Given the description of an element on the screen output the (x, y) to click on. 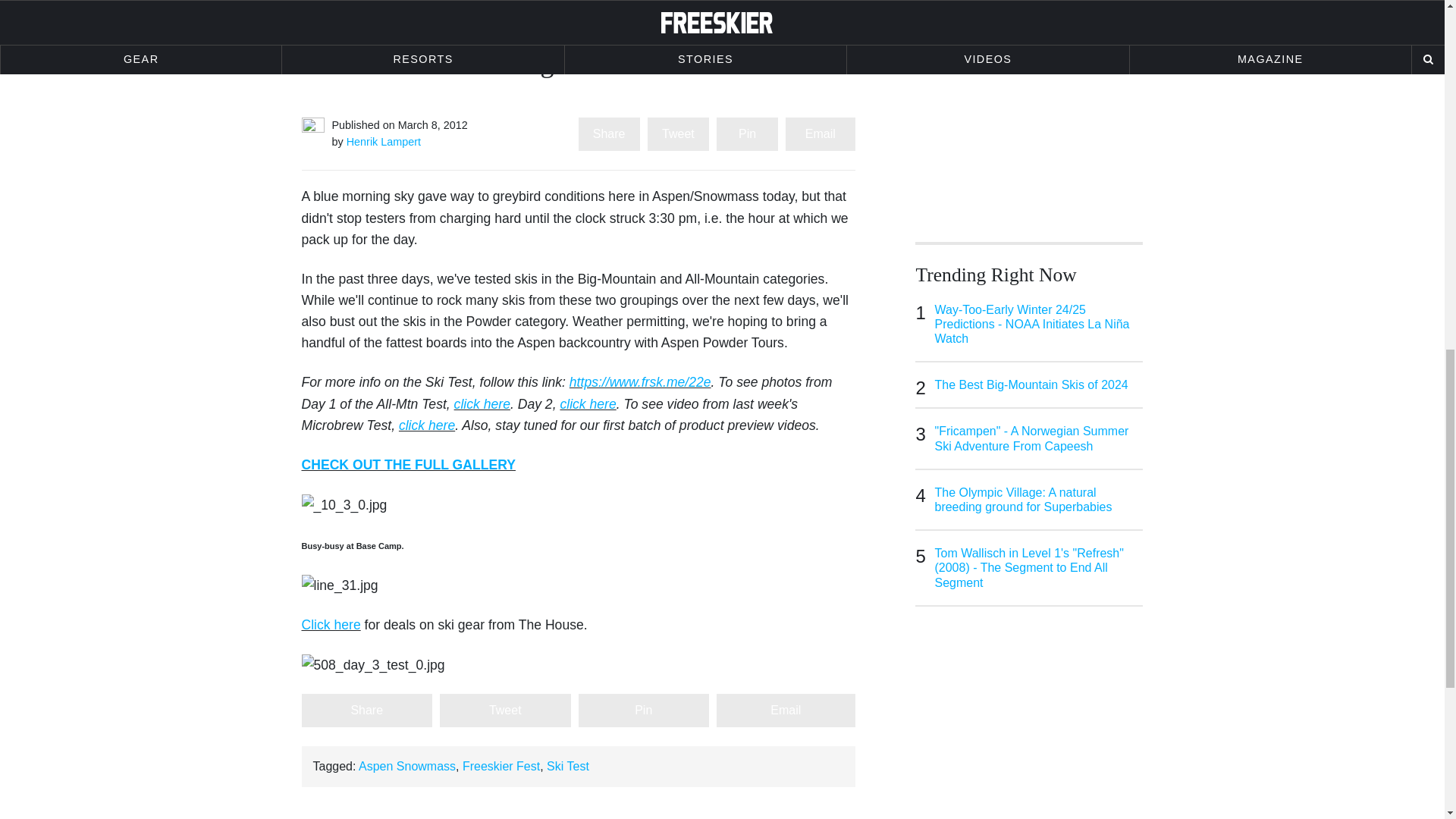
Henrik Lampert (383, 141)
Ski Test (568, 766)
"Fricampen" - A Norwegian Summer Ski Adventure From Capeesh (1038, 438)
Freeskier Fest (501, 766)
The Best Big-Mountain Skis of 2024 (1038, 384)
click here (587, 403)
click here (482, 403)
click here (426, 425)
Aspen Snowmass (406, 766)
Click here (331, 624)
CHECK OUT THE FULL GALLERY (408, 464)
